Given the description of an element on the screen output the (x, y) to click on. 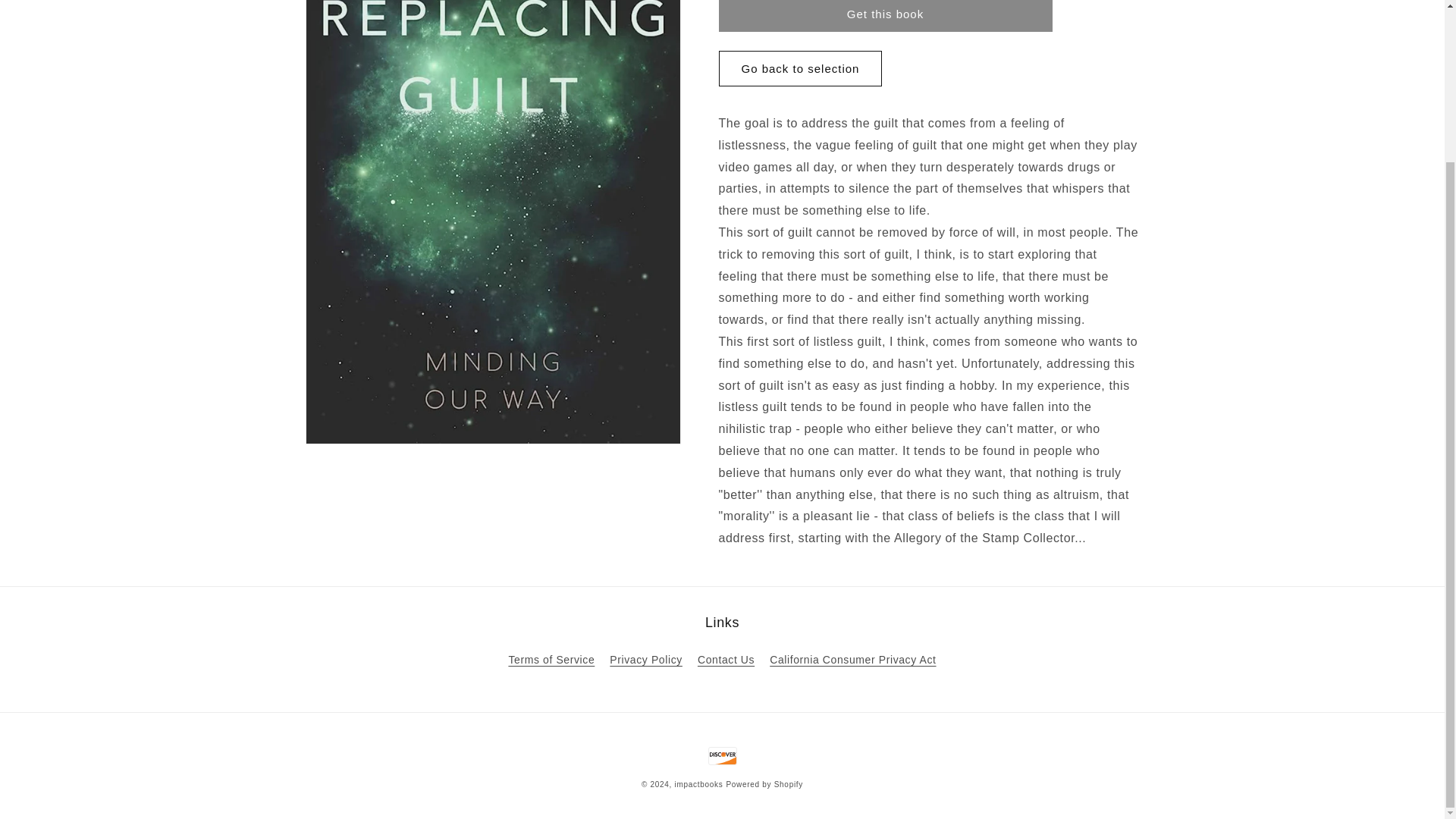
Privacy Policy (646, 660)
Go back to selection (800, 49)
Get this book (885, 6)
Powered by Shopify (764, 784)
Terms of Service (551, 661)
California Consumer Privacy Act (853, 660)
Contact Us (725, 660)
impactbooks (699, 784)
